Given the description of an element on the screen output the (x, y) to click on. 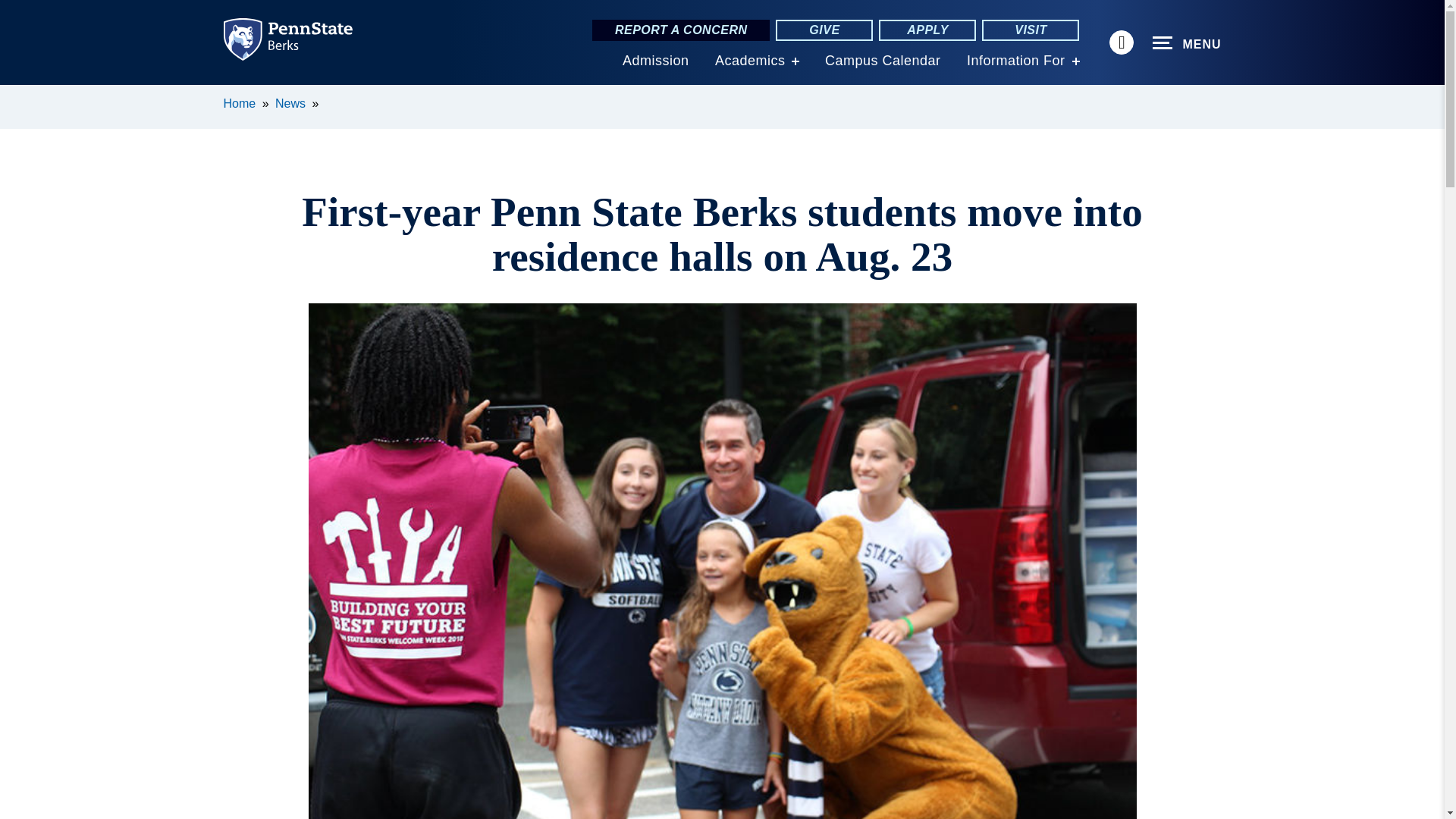
REPORT A CONCERN (681, 29)
MENU (1187, 43)
APPLY (927, 29)
Campus Calendar (882, 60)
VISIT (1029, 29)
Admission (655, 60)
SKIP TO MAIN CONTENT (19, 95)
Information For (1015, 60)
